Given the description of an element on the screen output the (x, y) to click on. 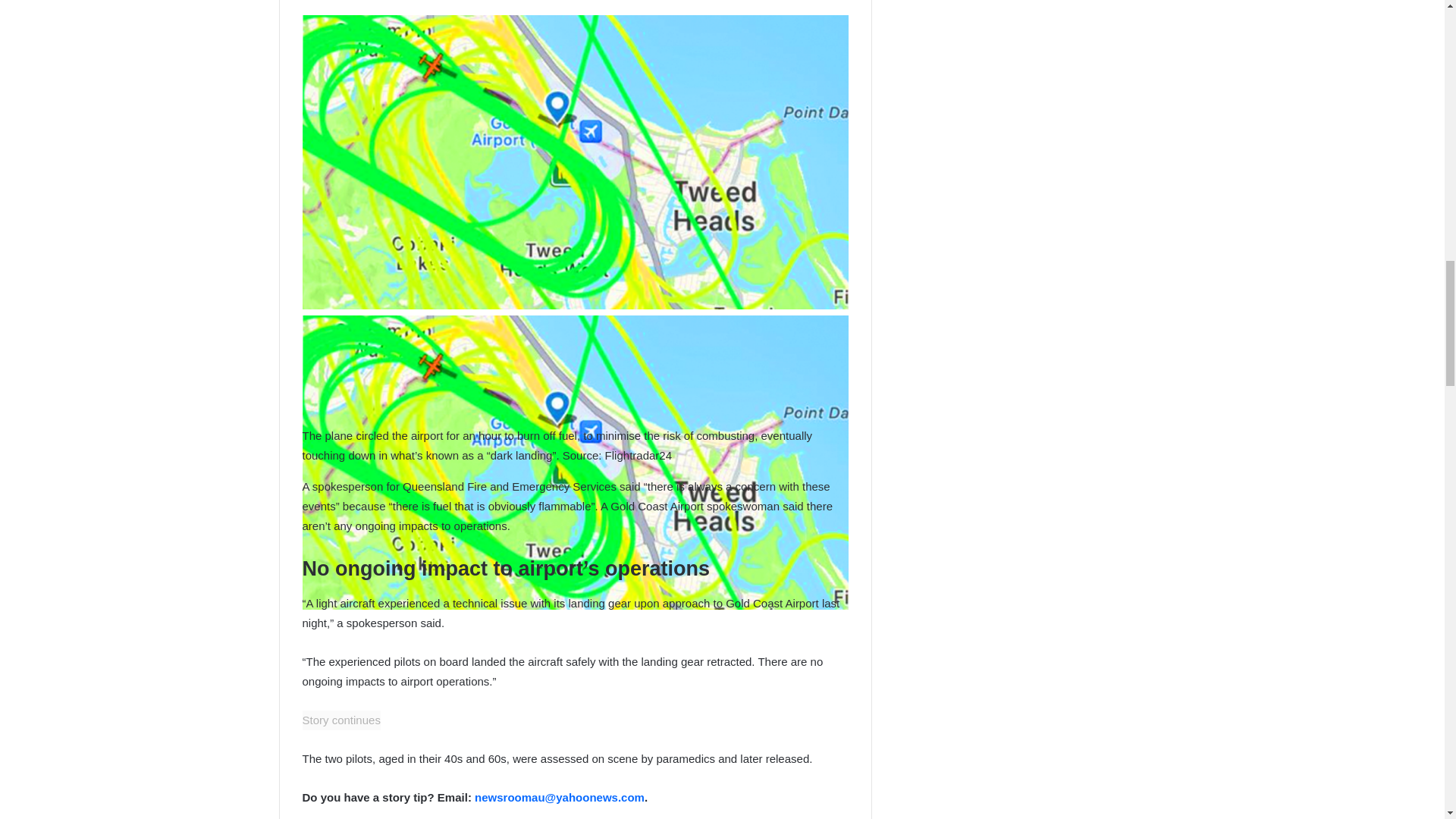
Story continues (340, 720)
